Given the description of an element on the screen output the (x, y) to click on. 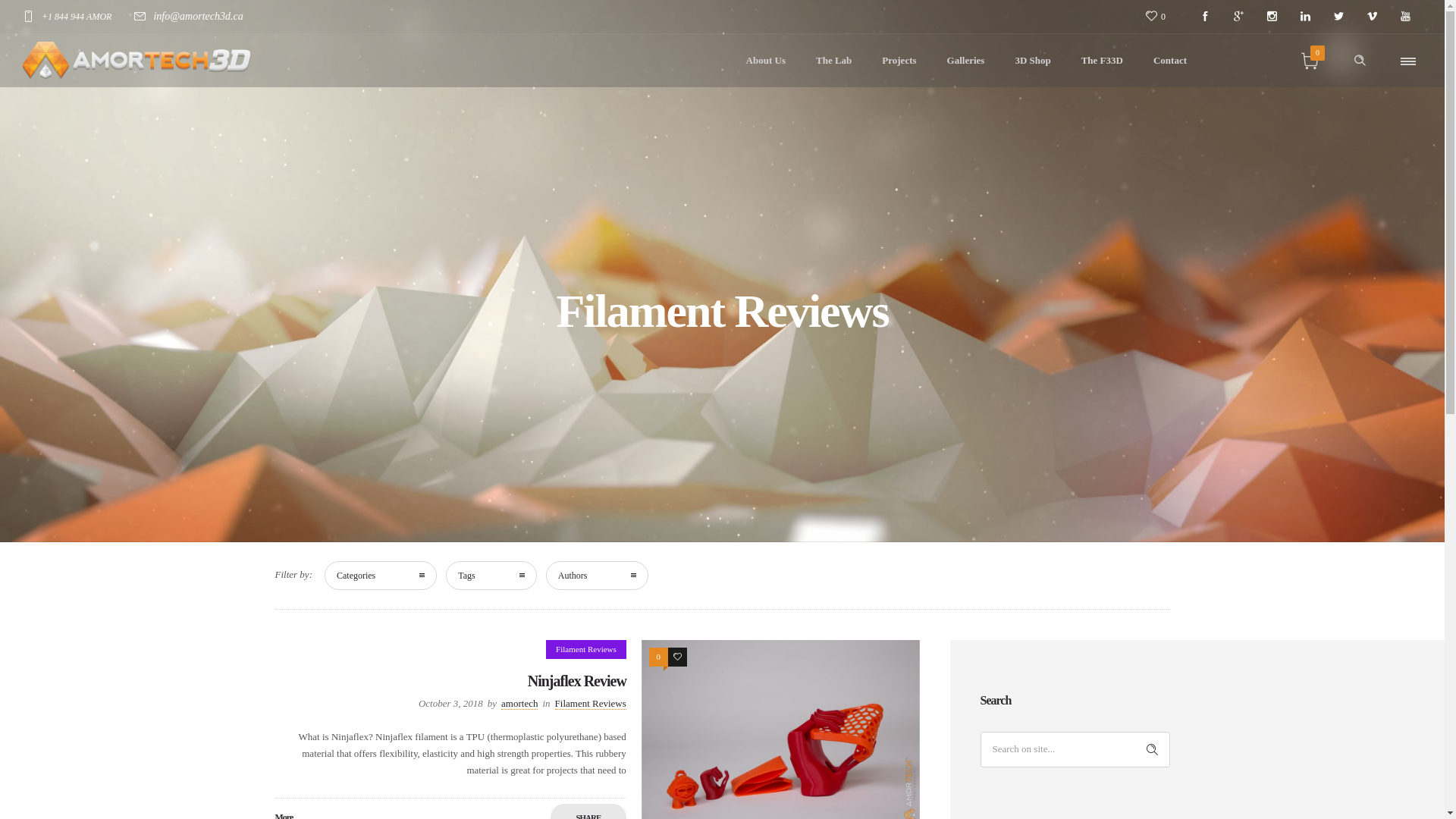
Vimeo Element type: hover (1371, 16)
Projects Element type: text (898, 60)
Twitter Element type: hover (1338, 16)
Search Element type: text (1152, 749)
Tags Element type: text (490, 575)
Filament Reviews Element type: text (590, 704)
Google + Element type: hover (1238, 16)
0 Element type: text (1309, 60)
info@amortech3d.ca Element type: text (197, 15)
About Us Element type: text (765, 60)
Authors Element type: text (597, 575)
Contact Element type: text (1169, 60)
The F33D Element type: text (1102, 60)
Facebook Element type: hover (1204, 16)
YouTube Element type: hover (1404, 16)
LinkedIN Element type: hover (1304, 16)
amortech Element type: text (519, 704)
Filament Reviews Element type: text (586, 649)
The Lab Element type: text (833, 60)
Instagram Element type: hover (1271, 16)
Galleries Element type: text (965, 60)
0 Element type: text (1160, 16)
Ninjaflex Review Element type: text (576, 680)
3D Shop Element type: text (1032, 60)
0 Element type: text (658, 656)
Categories Element type: text (380, 575)
